Given the description of an element on the screen output the (x, y) to click on. 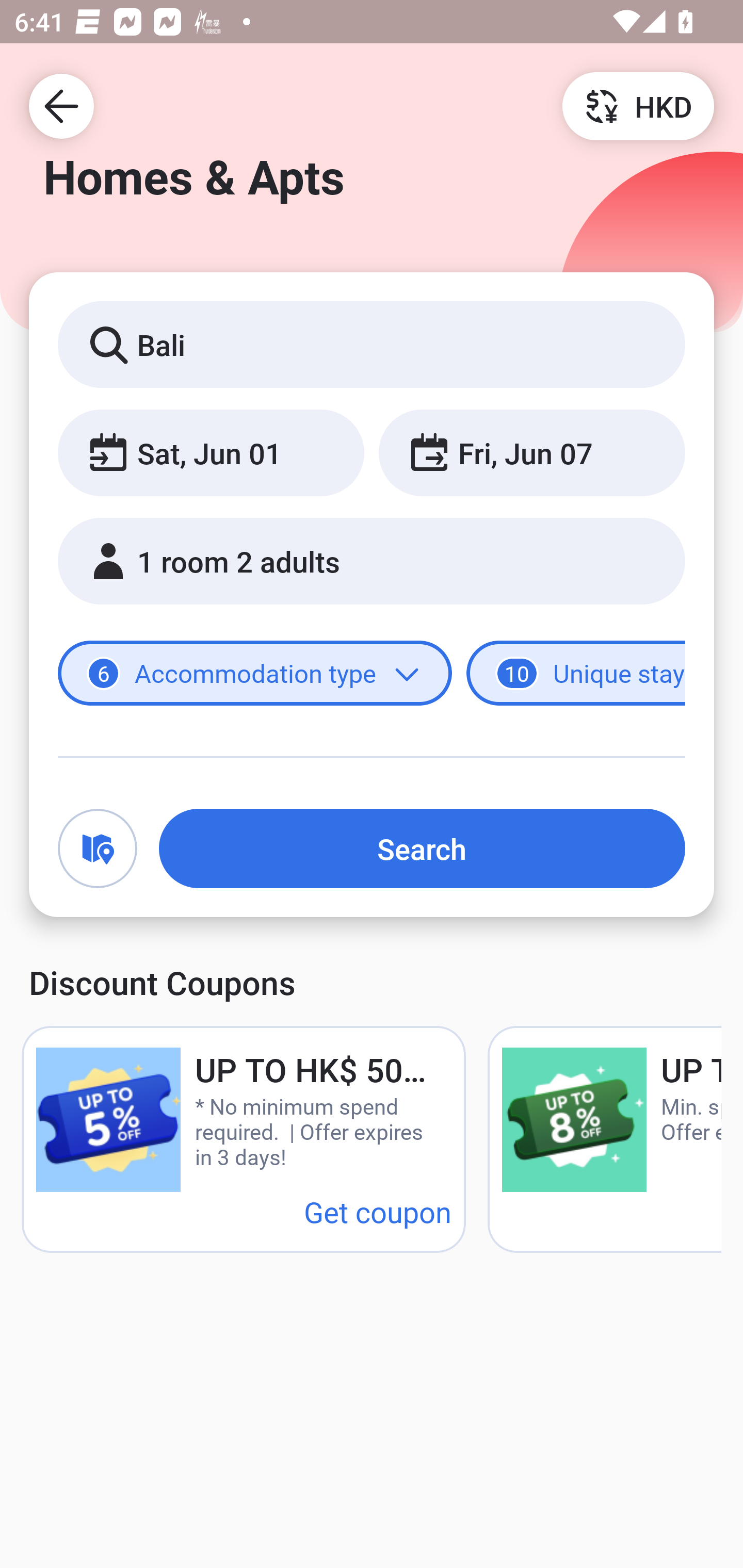
HKD (638, 105)
Bali (371, 344)
Sat, Jun 01 (210, 452)
Fri, Jun 07 (531, 452)
1 room 2 adults (371, 561)
6 Accommodation type (254, 673)
10 Unique stays (575, 673)
Search (422, 848)
Get coupon (377, 1211)
